Given the description of an element on the screen output the (x, y) to click on. 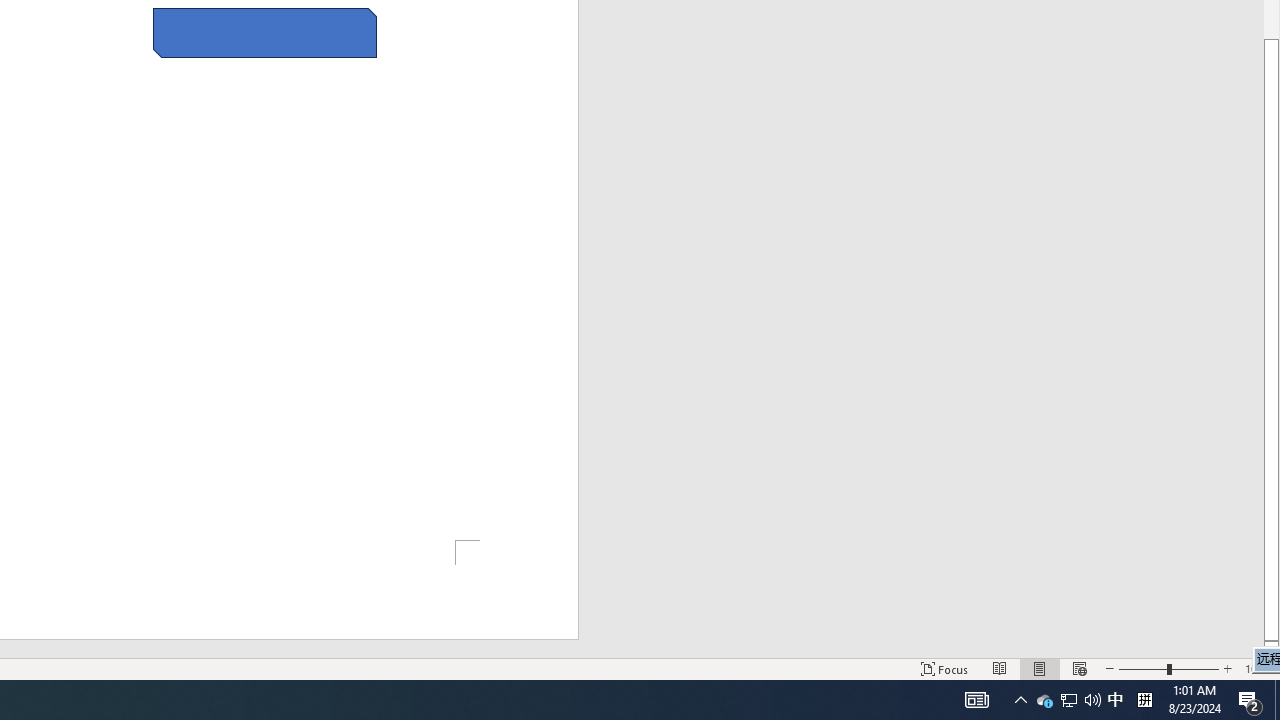
Zoom (1168, 668)
Zoom 104% (1258, 668)
Rectangle: Diagonal Corners Snipped 2 (265, 32)
Print Layout (1039, 668)
Line down (1271, 649)
Focus  (944, 668)
Web Layout (1079, 668)
Read Mode (1000, 668)
Zoom In (1227, 668)
Zoom Out (1142, 668)
